Given the description of an element on the screen output the (x, y) to click on. 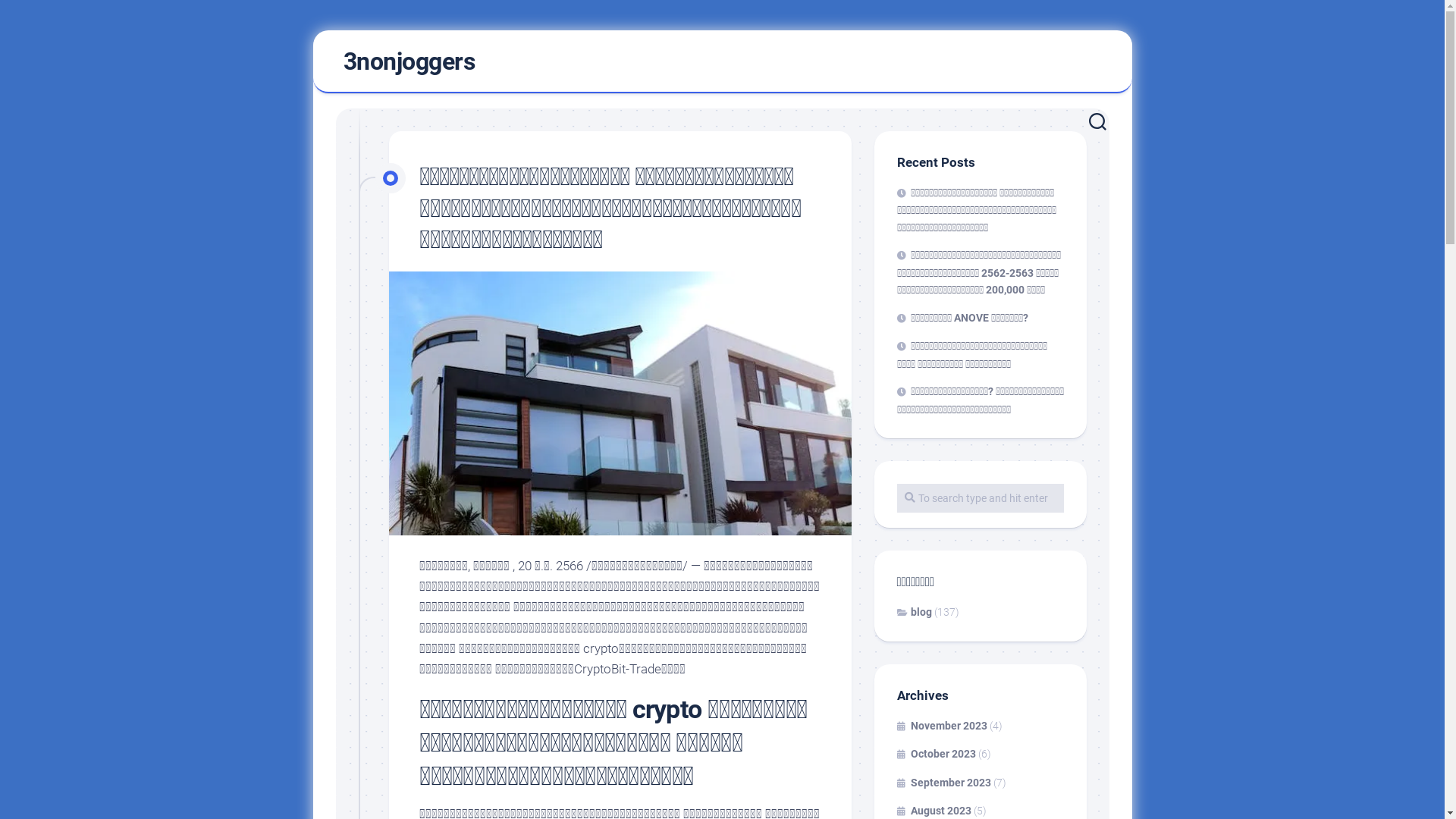
August 2023 Element type: text (933, 810)
September 2023 Element type: text (943, 782)
November 2023 Element type: text (941, 724)
October 2023 Element type: text (935, 753)
blog Element type: text (913, 611)
3nonjoggers Element type: text (408, 61)
